Given the description of an element on the screen output the (x, y) to click on. 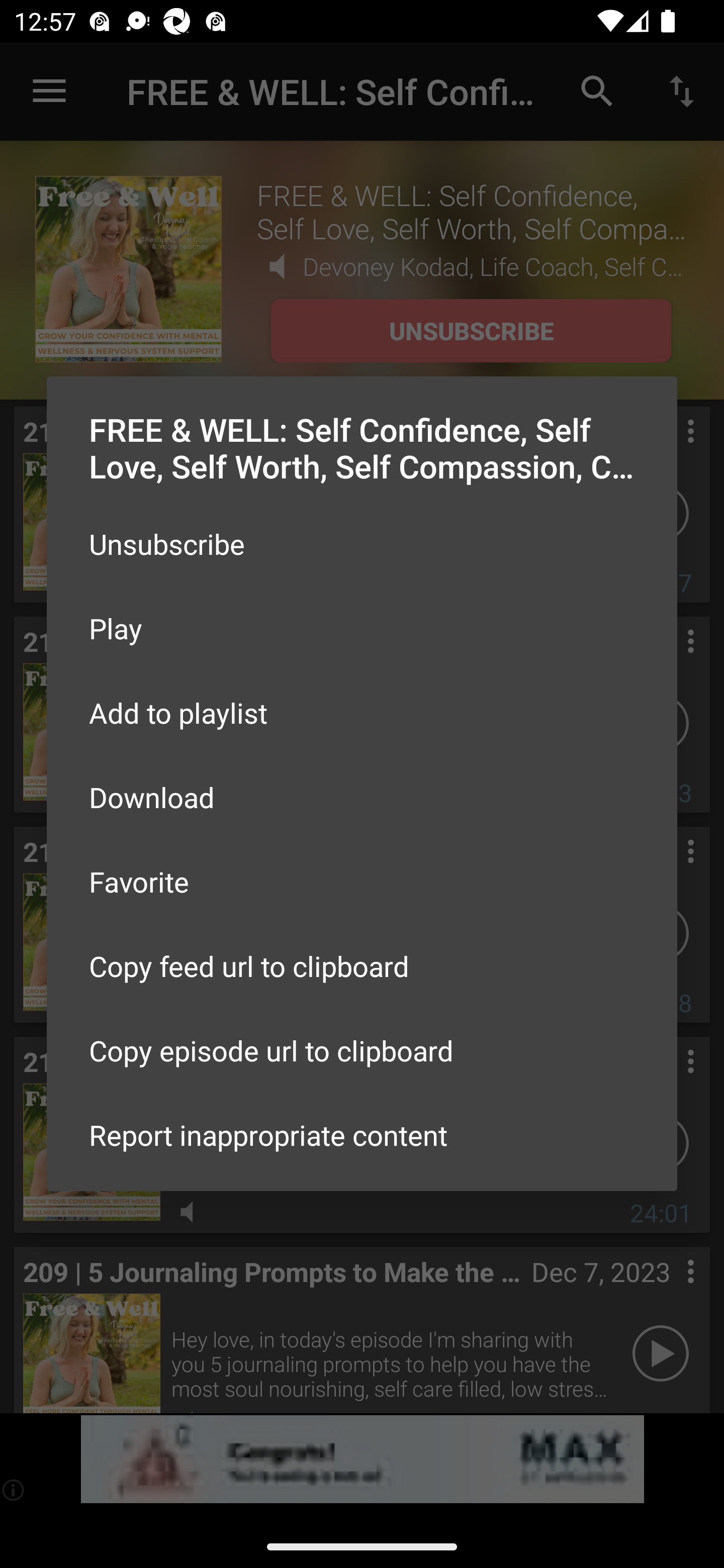
Unsubscribe (361, 543)
Play (361, 628)
Add to playlist (361, 712)
Download (361, 796)
Favorite (361, 880)
Copy feed url to clipboard (361, 965)
Copy episode url to clipboard (361, 1050)
Report inappropriate content (361, 1134)
